Given the description of an element on the screen output the (x, y) to click on. 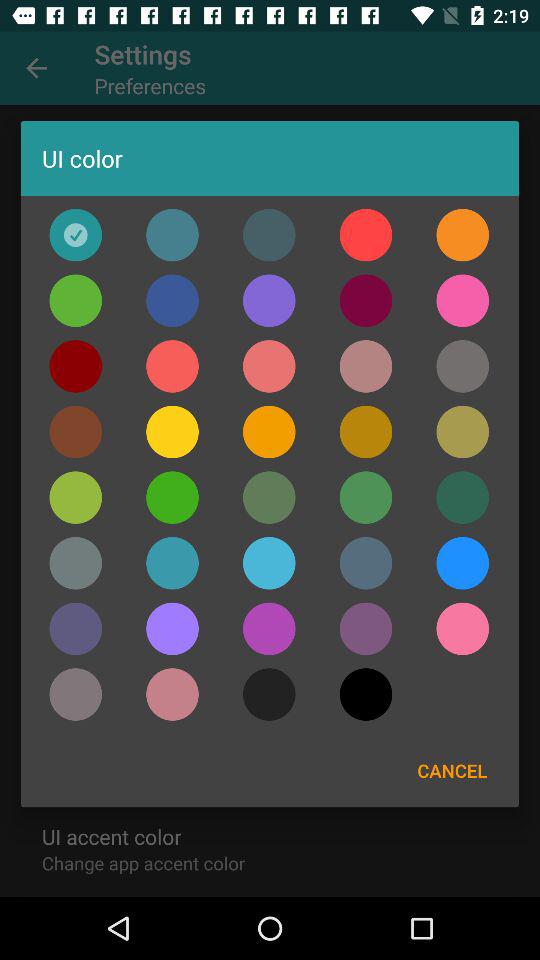
press icon below the ui color item (172, 234)
